Given the description of an element on the screen output the (x, y) to click on. 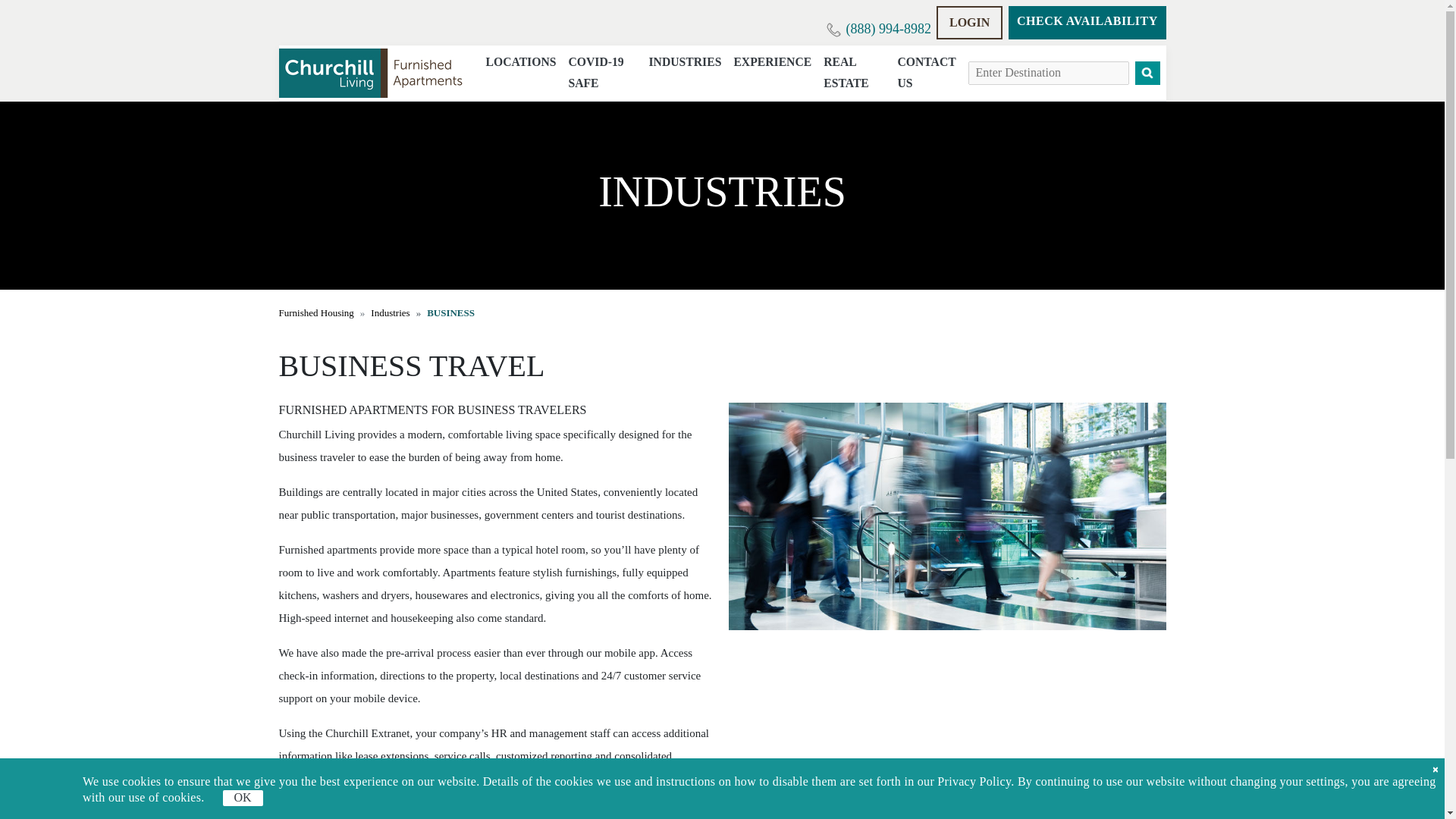
Churchill Living (373, 72)
REAL ESTATE (853, 72)
COVID-19 SAFE (602, 72)
EXPERIENCE (771, 61)
CHECK AVAILABILITY (1087, 22)
Business Travel (947, 515)
LOCATIONS (520, 61)
INDUSTRIES (684, 61)
. (316, 312)
Industries (390, 312)
LOGIN (969, 22)
CONTACT US (925, 72)
